Given the description of an element on the screen output the (x, y) to click on. 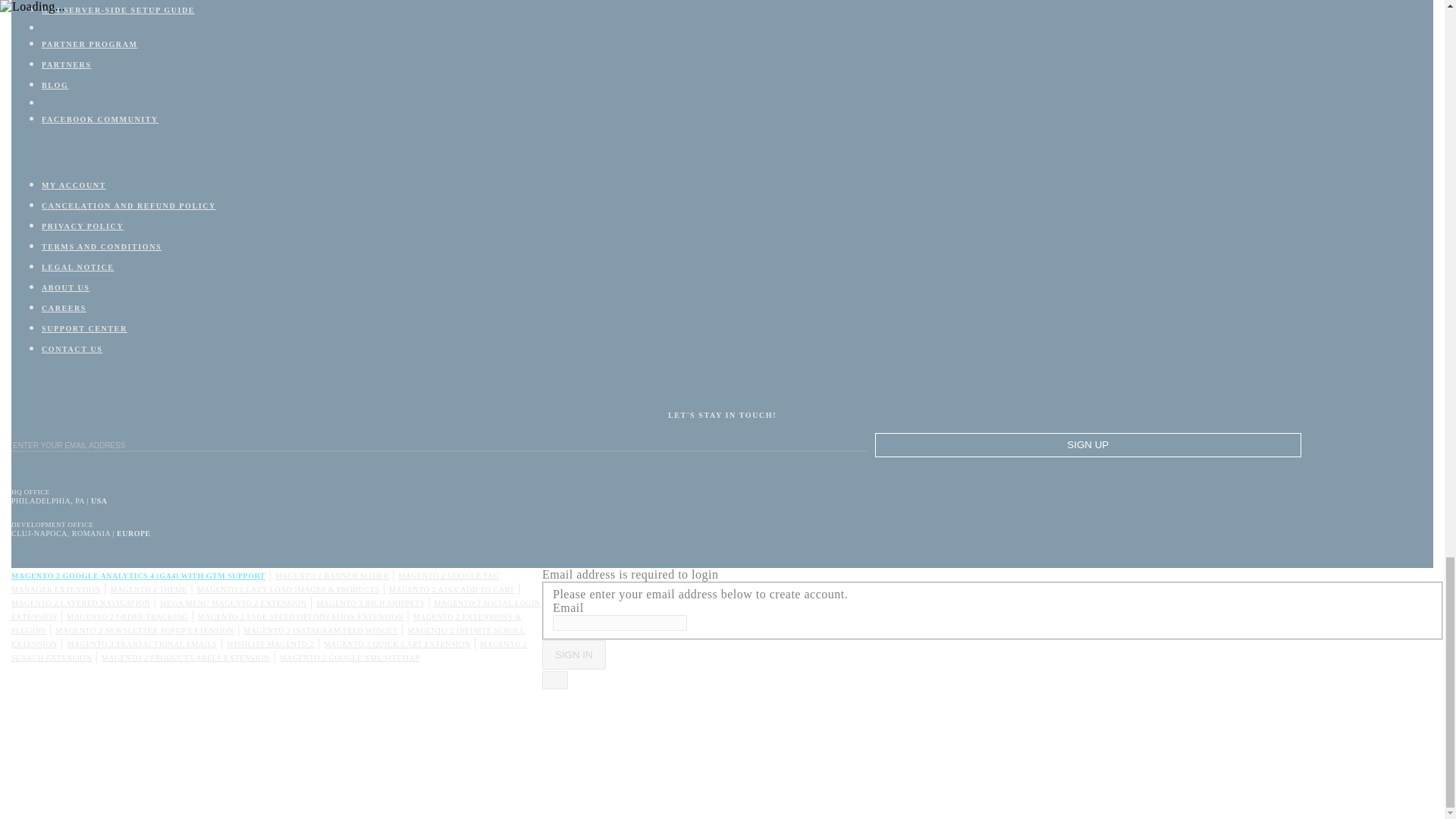
Blog (55, 85)
My Account (74, 184)
Privacy Policy (82, 225)
Partner Program (90, 44)
WeltPixel Facebook Magento Community (100, 119)
Partners (66, 64)
GA4 Server-SideSetup Guide (118, 9)
Terms and Conditions (101, 246)
Cancelation and refund policy (128, 205)
